Given the description of an element on the screen output the (x, y) to click on. 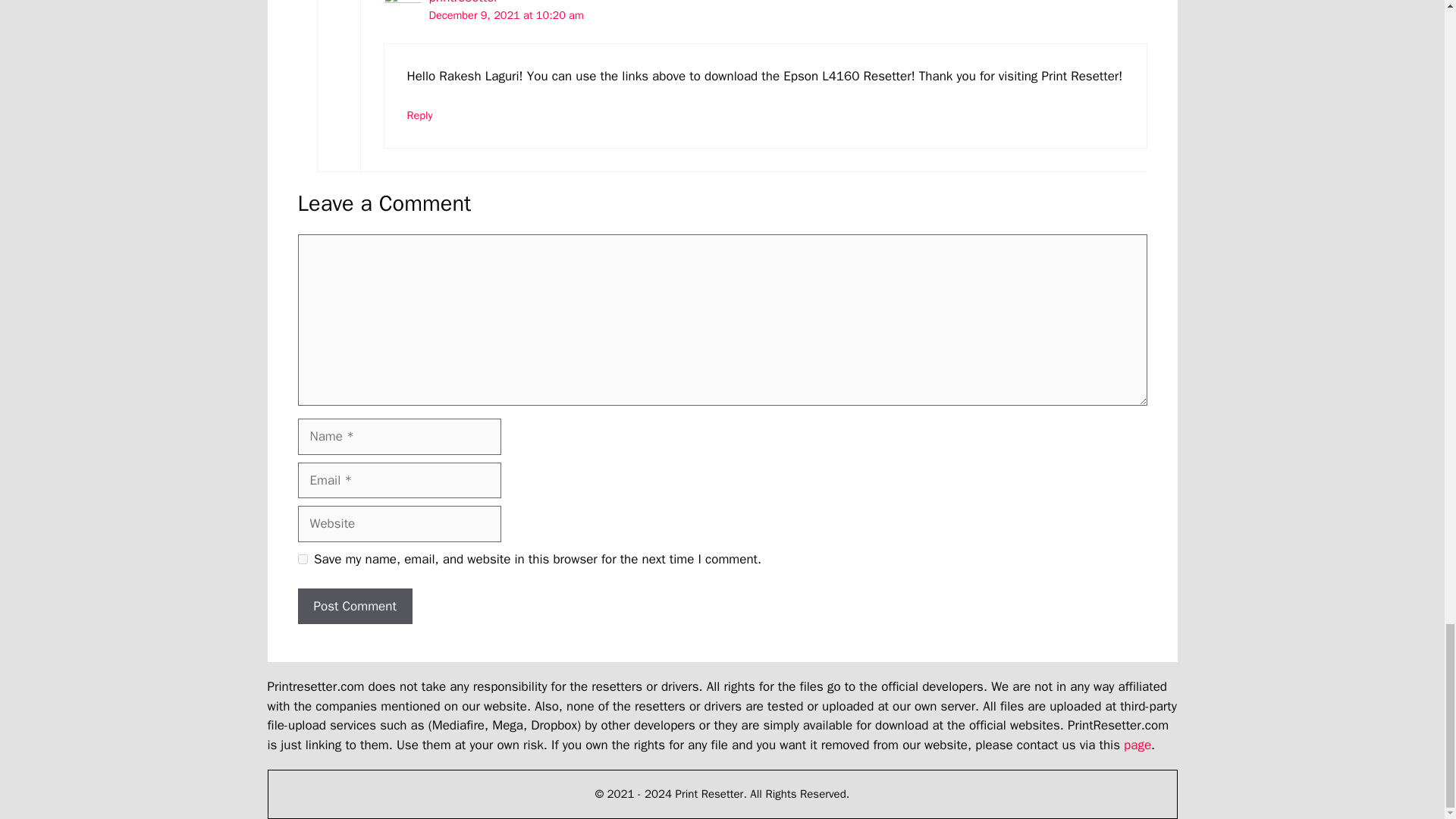
yes (302, 559)
Post Comment (354, 606)
